Given the description of an element on the screen output the (x, y) to click on. 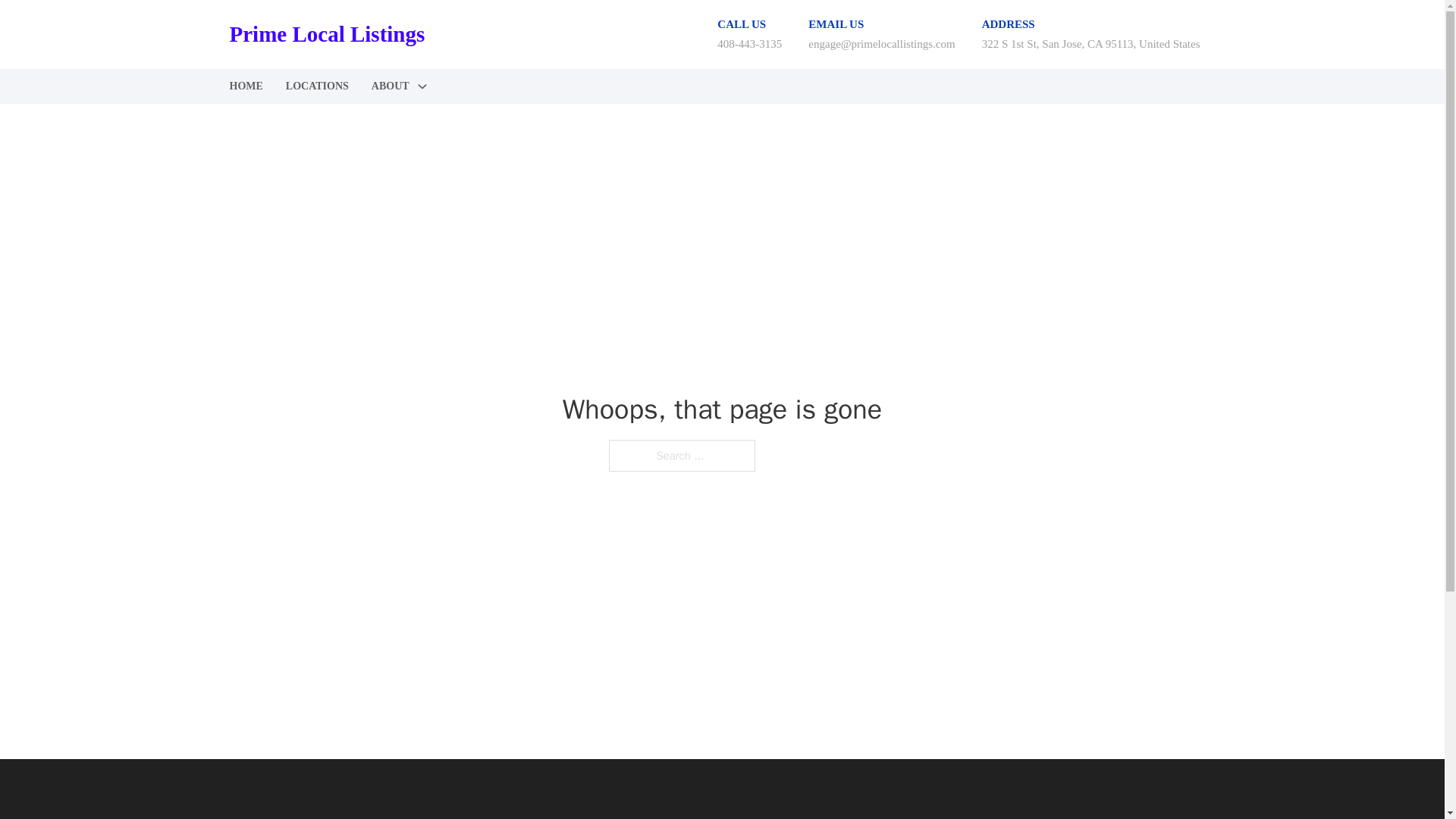
LOCATIONS (317, 85)
Prime Local Listings (326, 34)
408-443-3135 (749, 43)
HOME (245, 85)
